Given the description of an element on the screen output the (x, y) to click on. 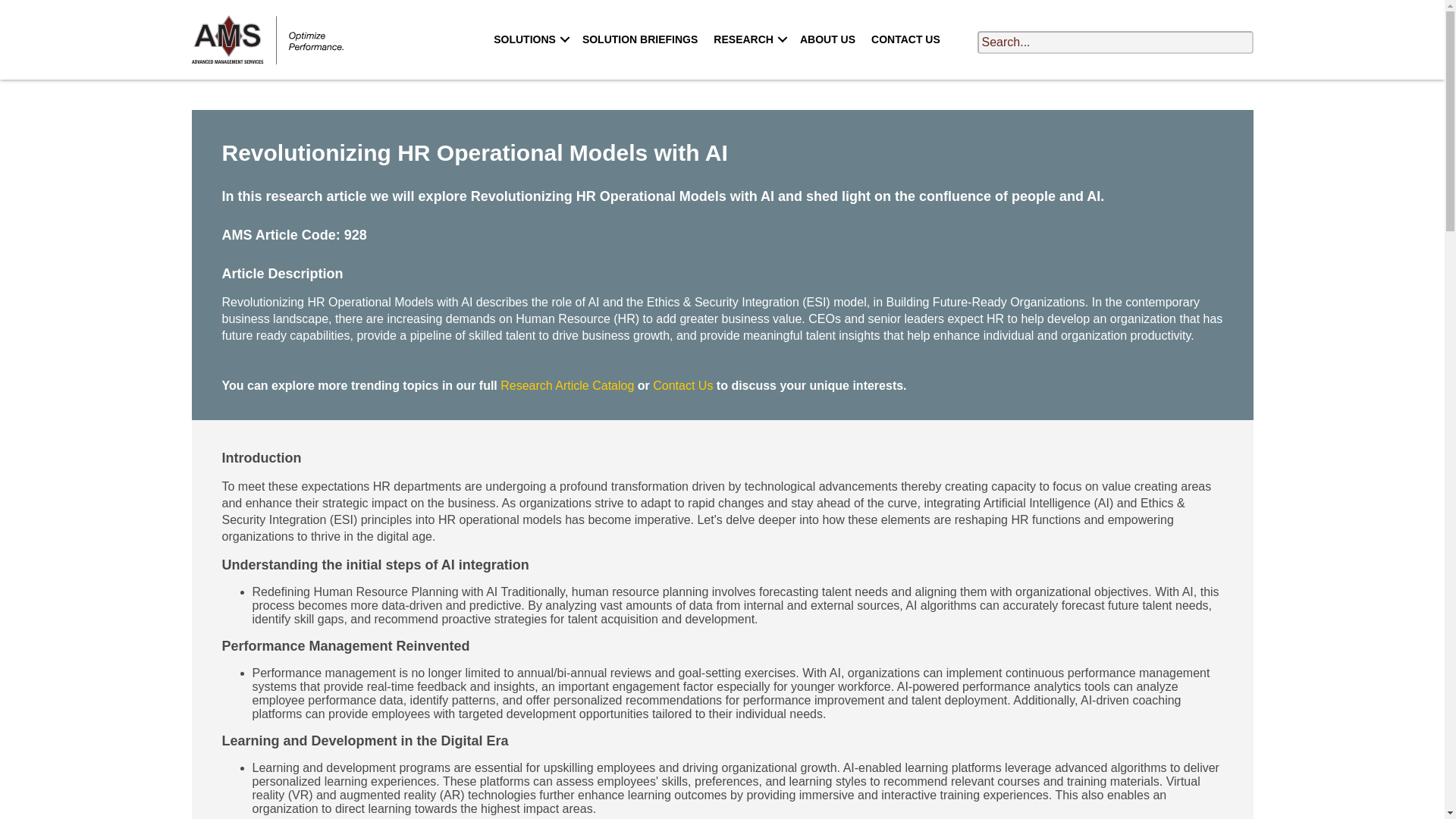
CONTACT US (905, 39)
RESEARCH (749, 39)
SOLUTION BRIEFINGS (639, 39)
ABOUT US (827, 39)
Contact Us (682, 385)
Research Article Catalog (566, 385)
SOLUTIONS (529, 39)
